Given the description of an element on the screen output the (x, y) to click on. 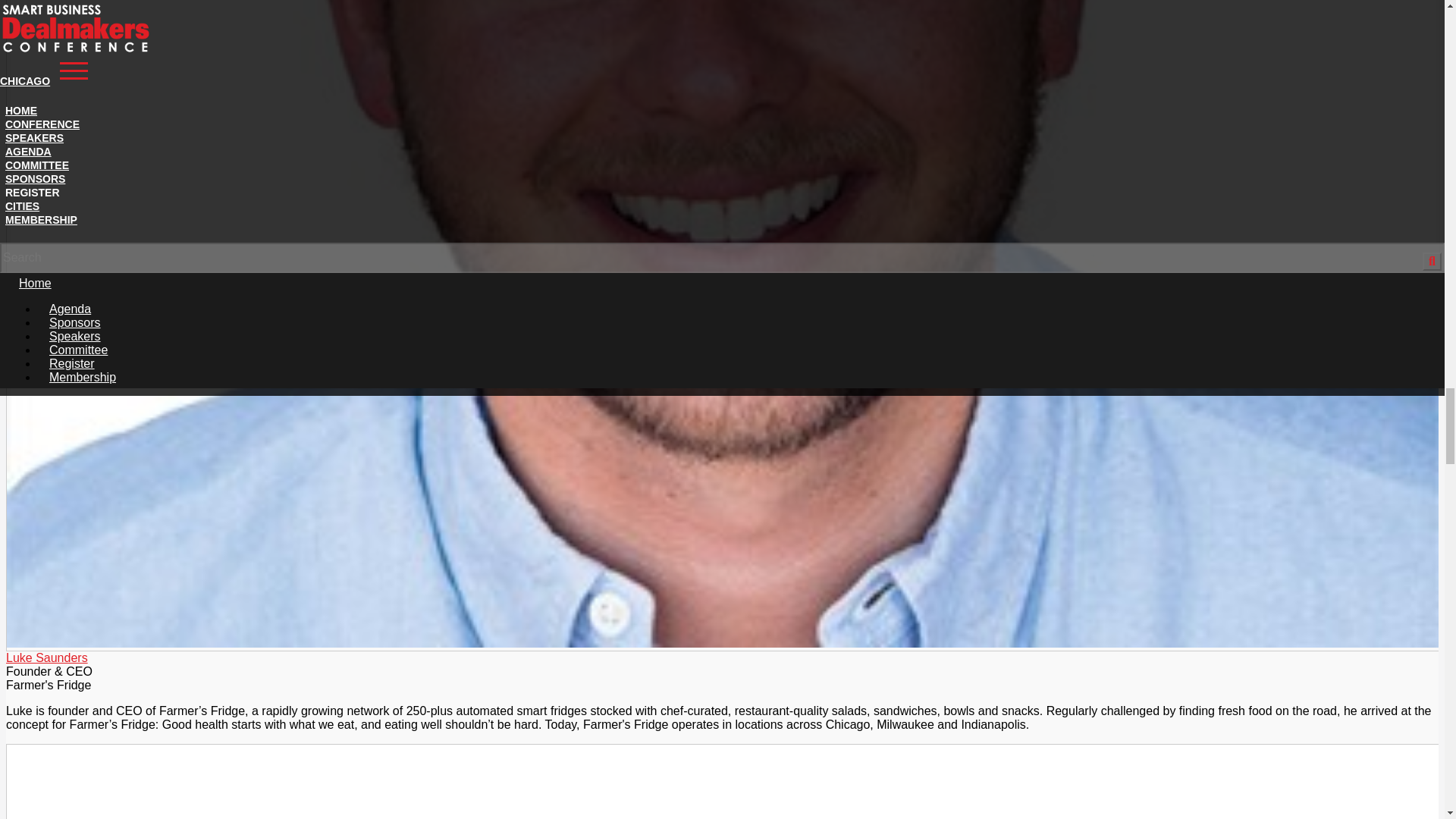
Luke Saunders (46, 657)
